Given the description of an element on the screen output the (x, y) to click on. 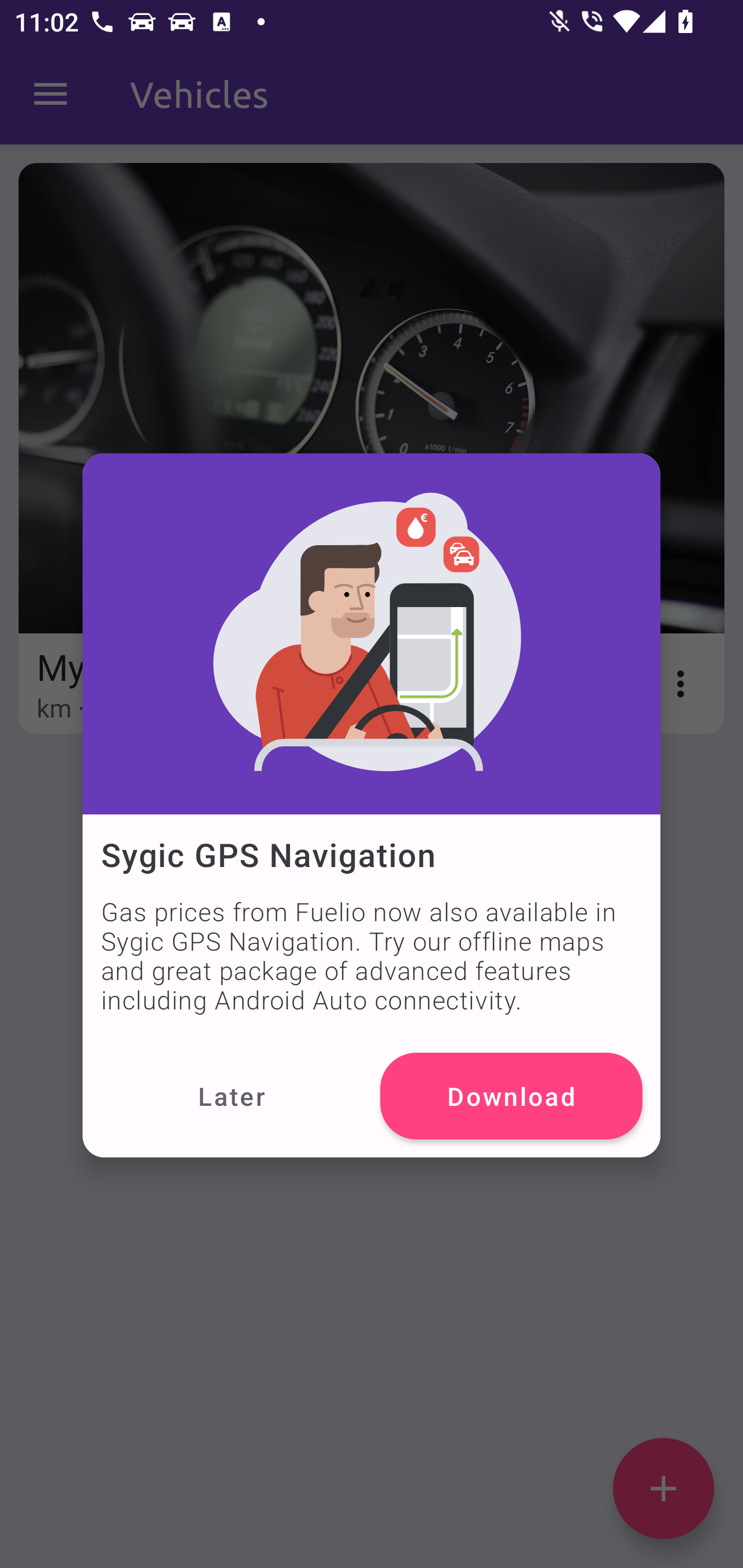
Later (231, 1095)
Download (511, 1095)
